Given the description of an element on the screen output the (x, y) to click on. 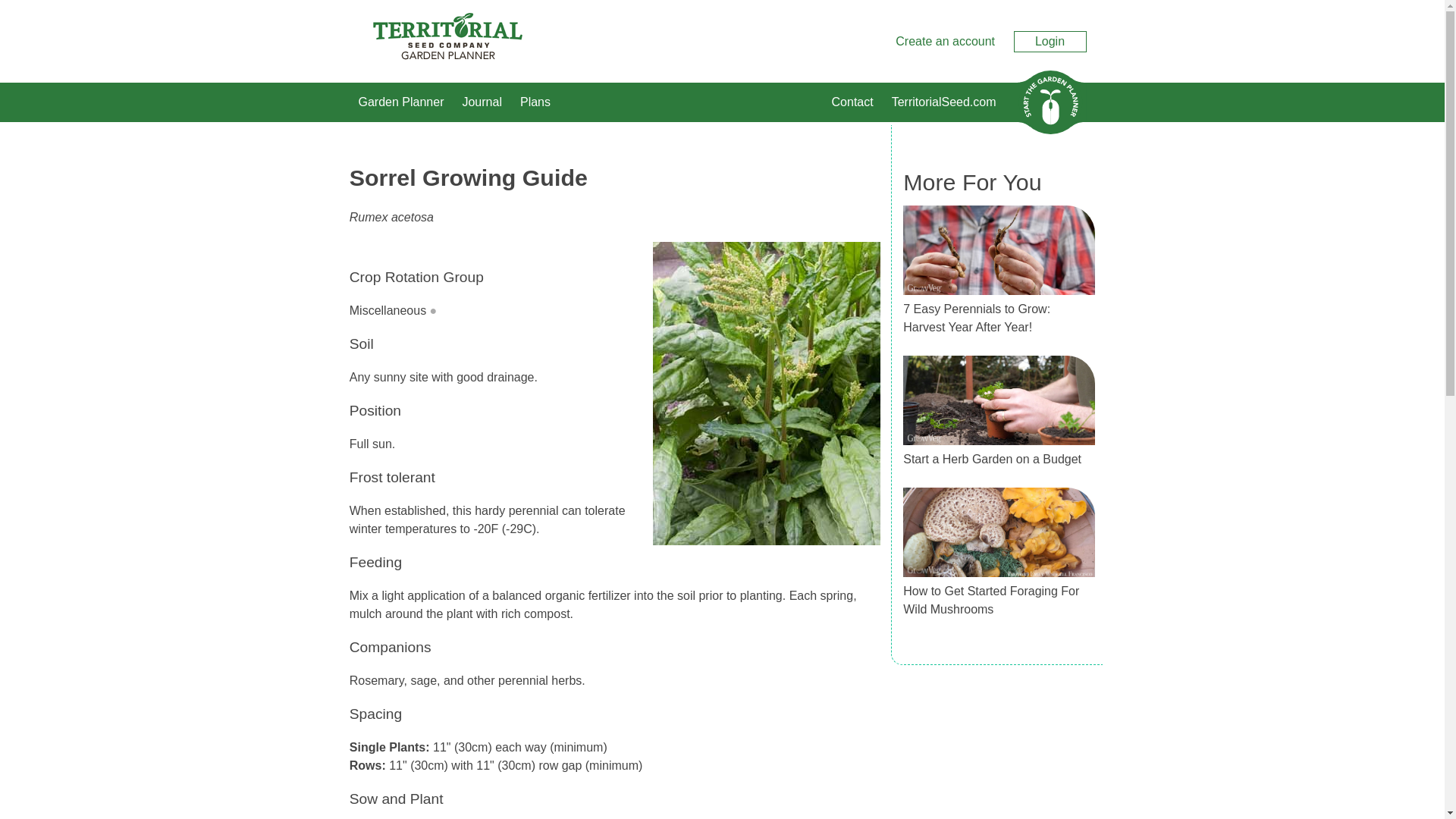
How to Get Started Foraging For Wild Mushrooms (990, 599)
Create an account (944, 41)
Start a Herb Garden on a Budget (991, 459)
Go back to the main website (943, 102)
Contact (852, 102)
Journal (480, 102)
Login (1049, 40)
7 Easy Perennials to Grow: Harvest Year After Year! (975, 317)
TerritorialSeed.com (943, 102)
Garden Planner (401, 102)
